Given the description of an element on the screen output the (x, y) to click on. 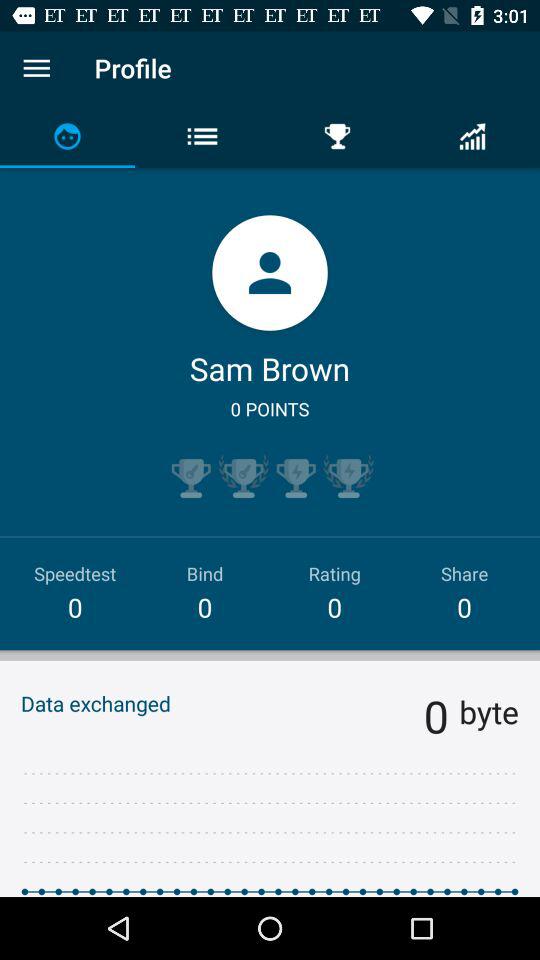
more options (36, 68)
